Given the description of an element on the screen output the (x, y) to click on. 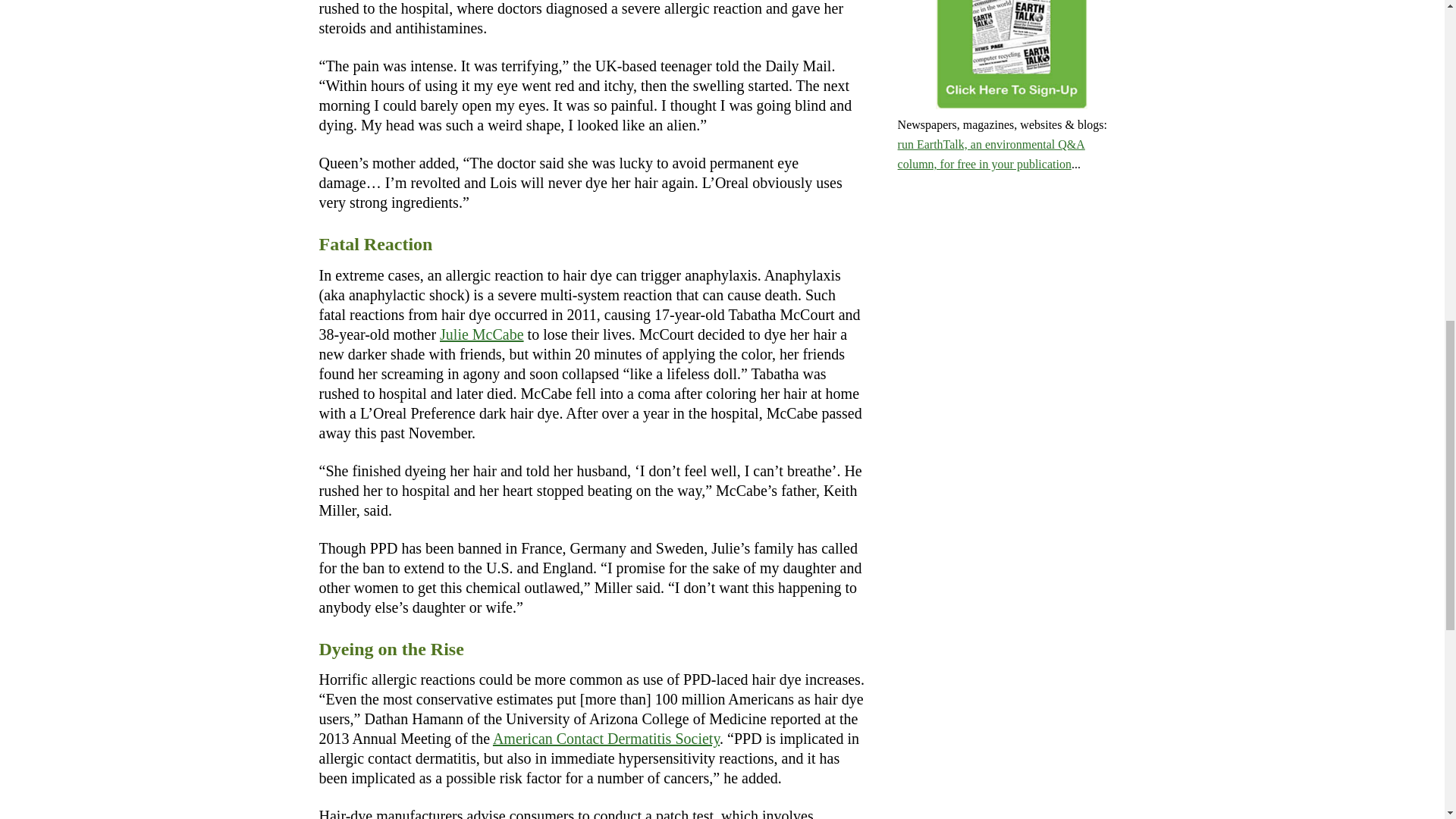
Julie McCabe (481, 334)
American Contact Dermatitis Society (606, 738)
